Given the description of an element on the screen output the (x, y) to click on. 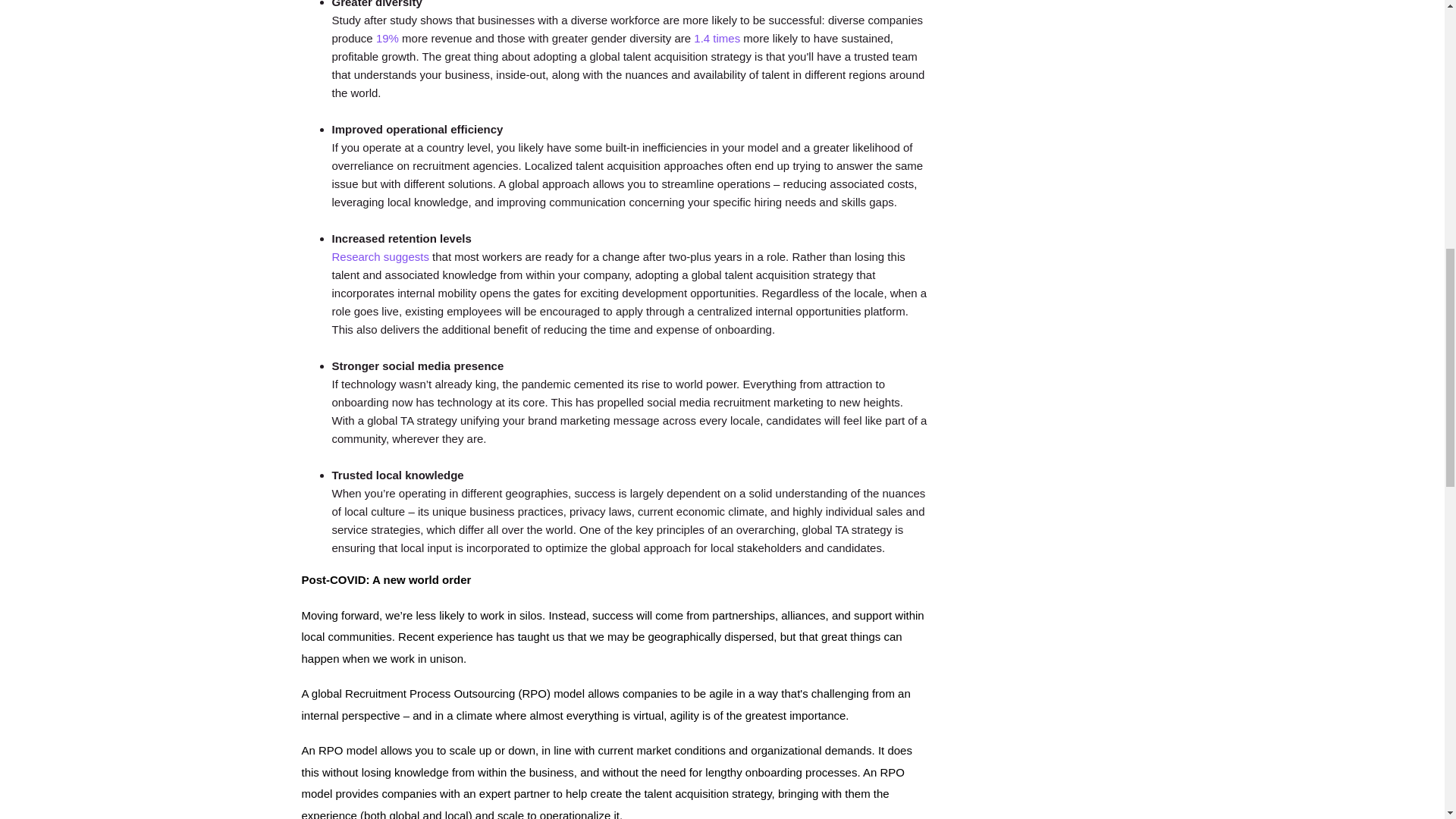
1.4 times (716, 38)
BCG study (386, 38)
Research suggests (380, 256)
PWC study (716, 38)
